Given the description of an element on the screen output the (x, y) to click on. 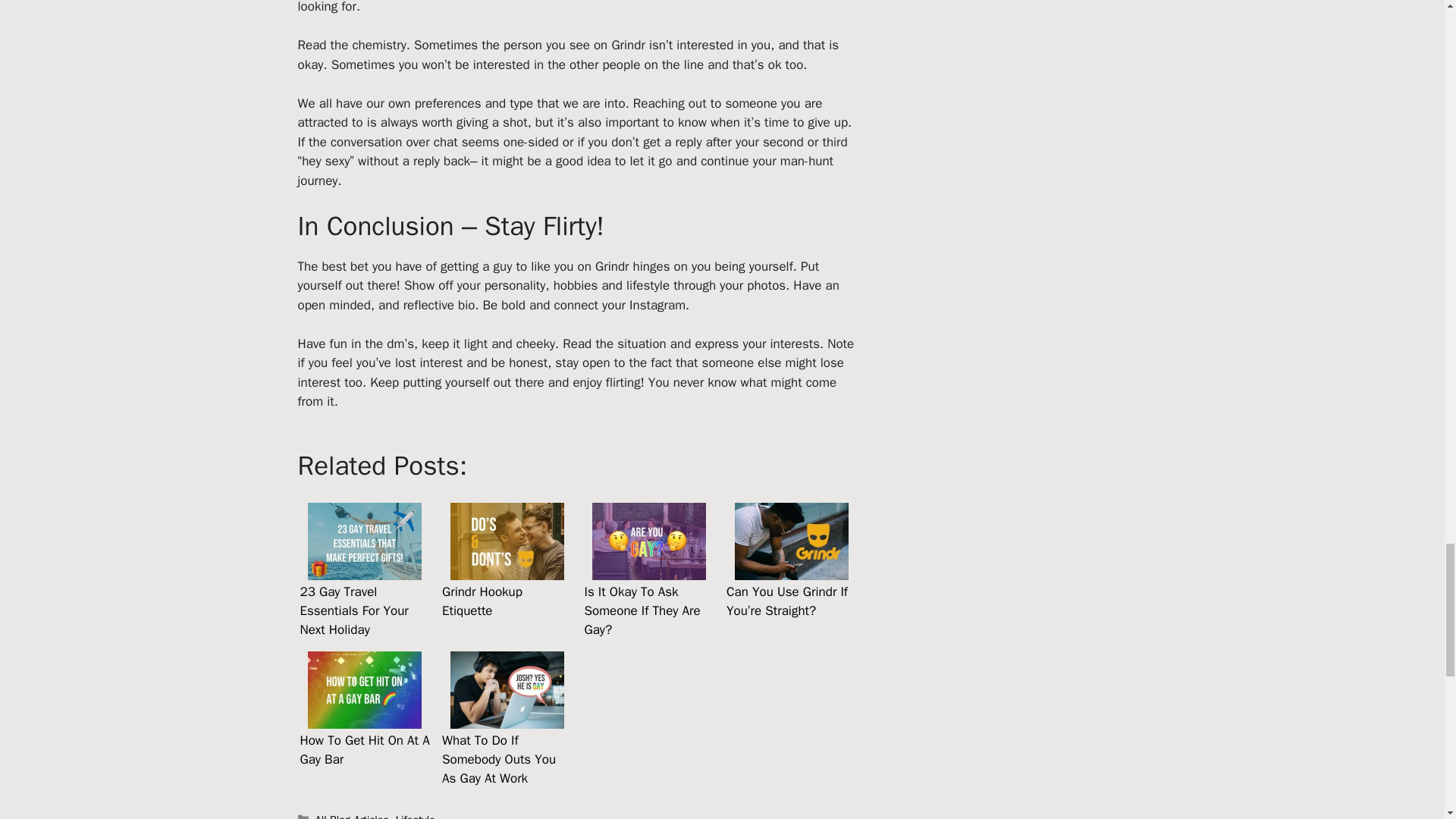
What To Do If Somebody Outs You As Gay At Work (506, 689)
What To Do If Somebody Outs You As Gay At Work (507, 719)
Grindr Hookup Etiquette (506, 540)
23 Gay Travel Essentials For Your Next Holiday (364, 540)
Is It Okay To Ask Someone If They Are Gay? (649, 540)
How To Get Hit On At A Gay Bar (364, 689)
All Blog Articles (351, 816)
Grindr Hookup Etiquette (507, 570)
How To Get Hit On At A Gay Bar (364, 719)
Lifestyle (415, 816)
23 Gay Travel Essentials For Your Next Holiday (364, 570)
Is It Okay To Ask Someone If They Are Gay? (649, 570)
